Given the description of an element on the screen output the (x, y) to click on. 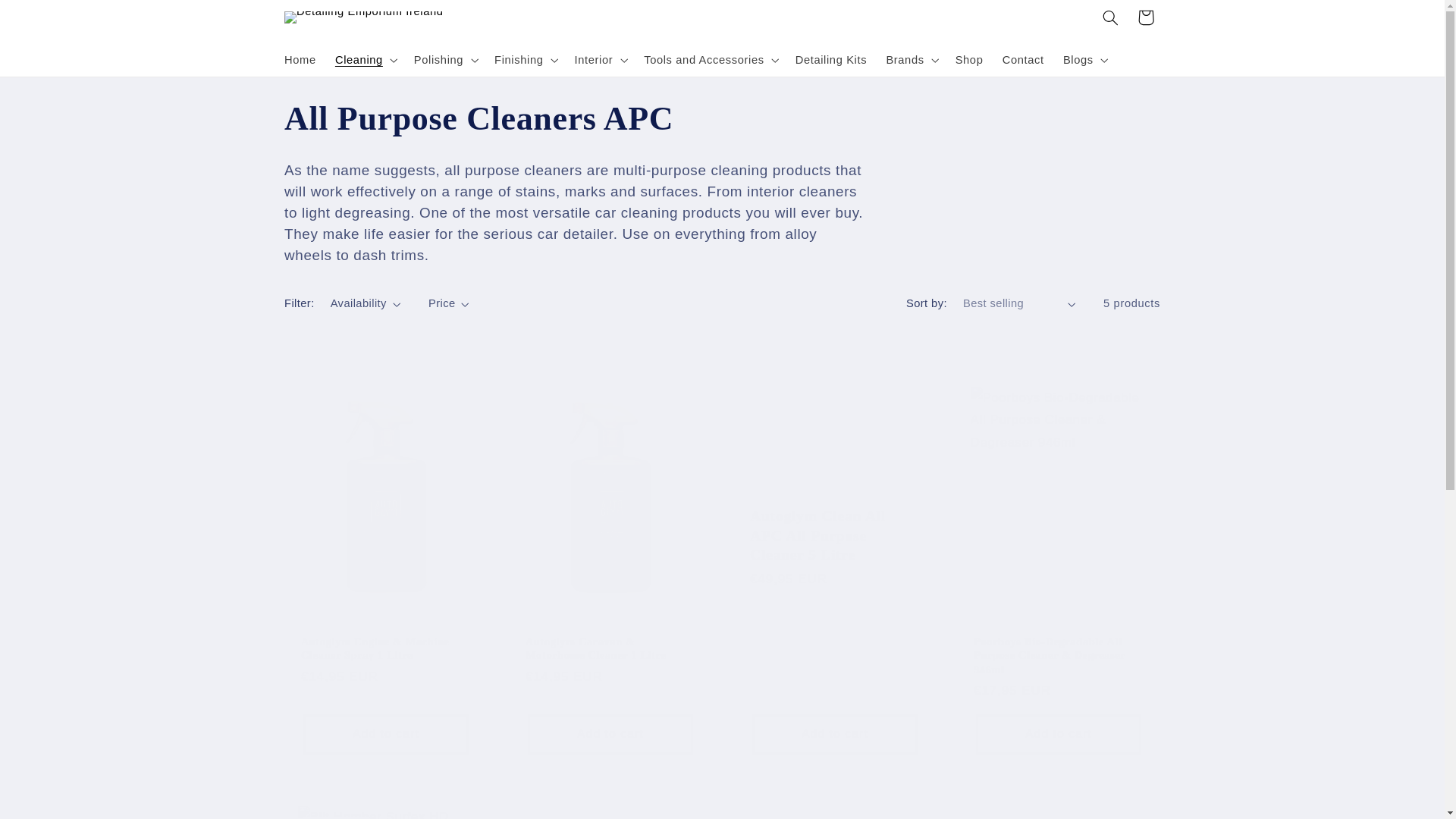
Skip to content (49, 19)
